Given the description of an element on the screen output the (x, y) to click on. 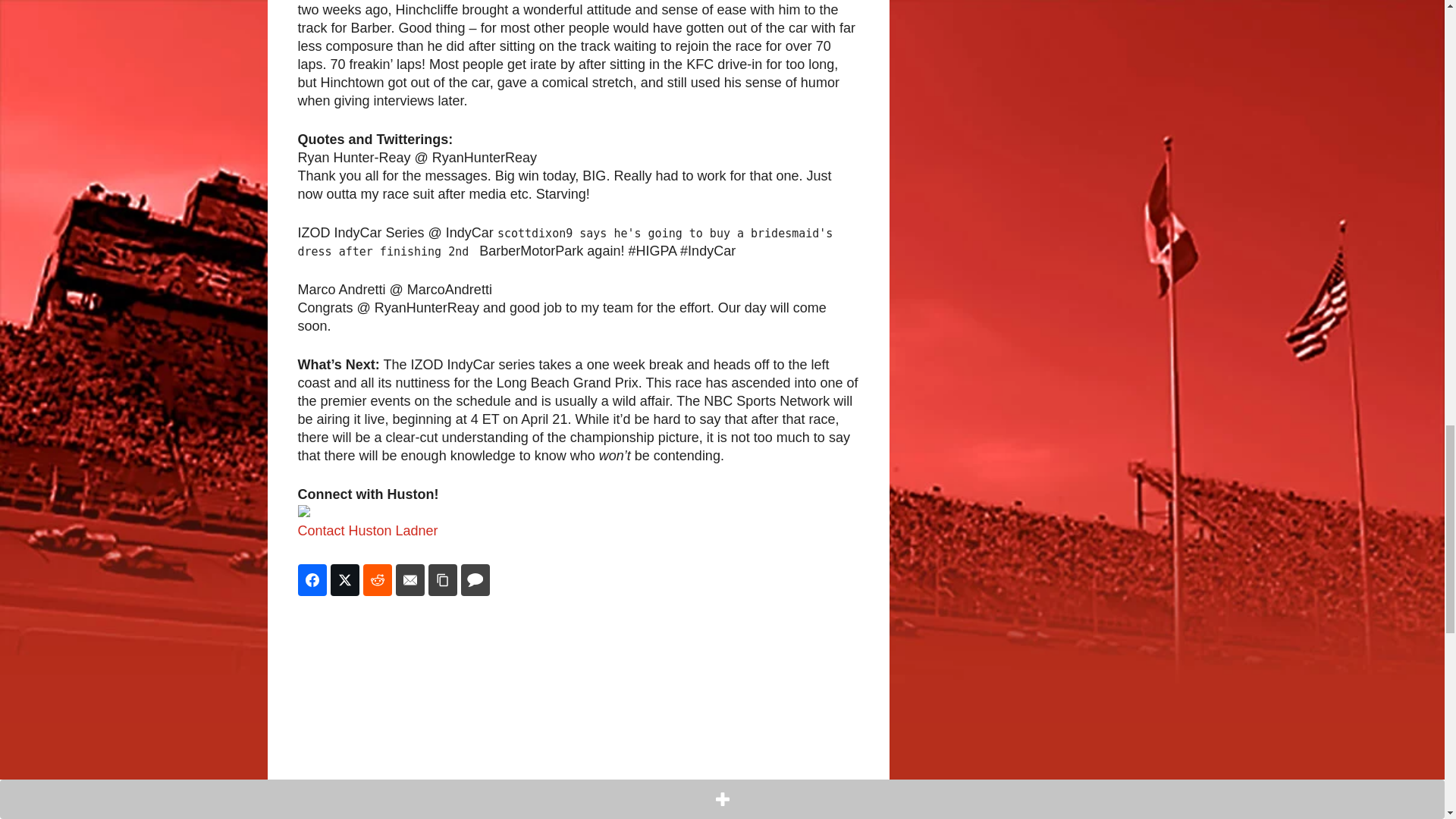
Share on Reddit (376, 580)
Share on Comments (475, 580)
IndyCar (335, 812)
Share on Twitter (344, 580)
Contact Huston Ladner (367, 530)
Share on Facebook (311, 580)
Share on Copy Link (442, 580)
Share on Email (410, 580)
